Given the description of an element on the screen output the (x, y) to click on. 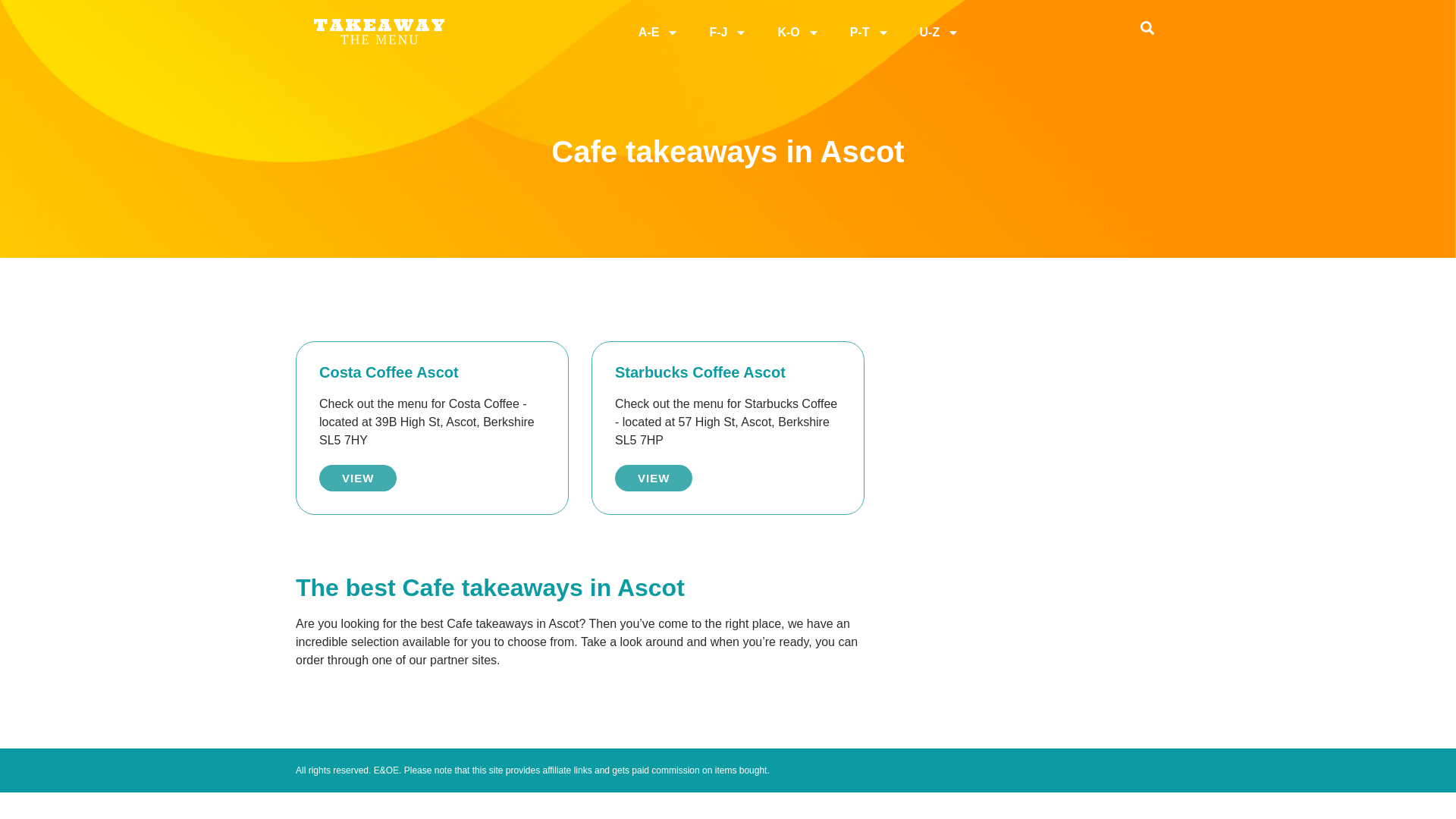
K-O (797, 32)
F-J (727, 32)
A-E (658, 32)
